Given the description of an element on the screen output the (x, y) to click on. 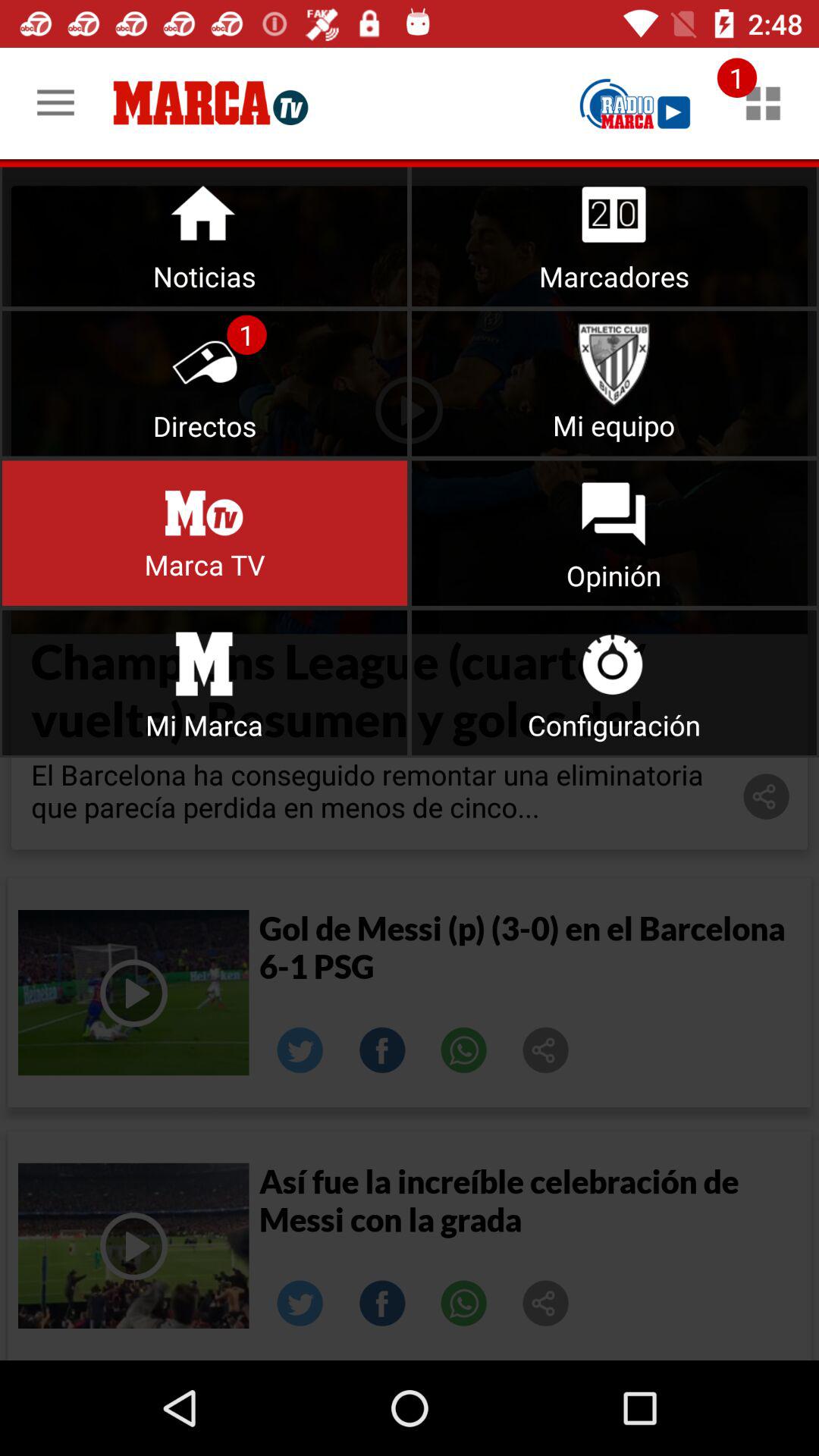
share the article (545, 1050)
